Given the description of an element on the screen output the (x, y) to click on. 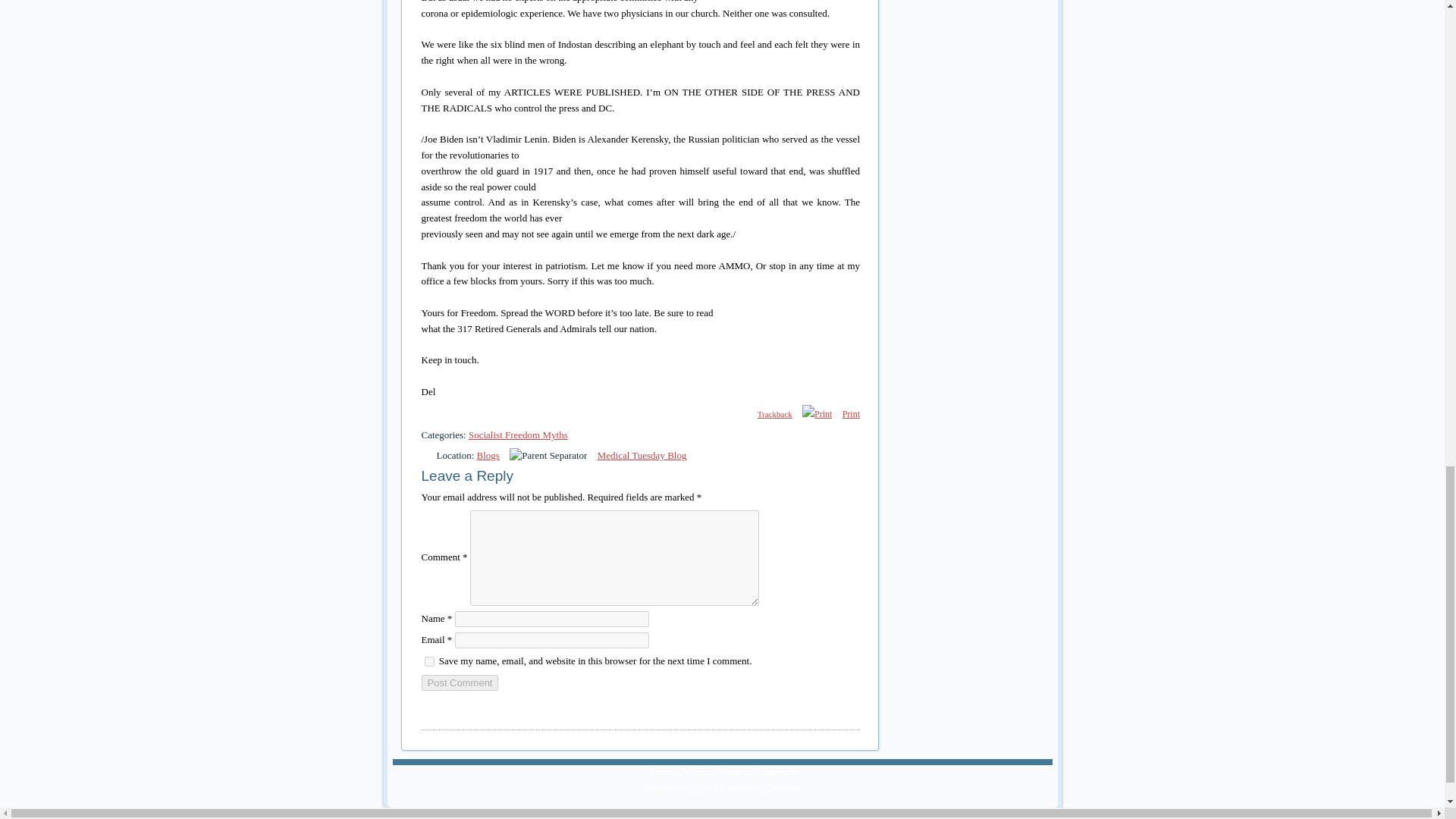
Socialist Freedom Myths (517, 434)
Print (851, 413)
Print (816, 413)
yes (429, 661)
Post Comment (460, 682)
Medical Tuesday Blog (641, 455)
Blogs (488, 455)
Print (851, 413)
Trackback (767, 413)
Post Comment (460, 682)
Print (817, 413)
